Given the description of an element on the screen output the (x, y) to click on. 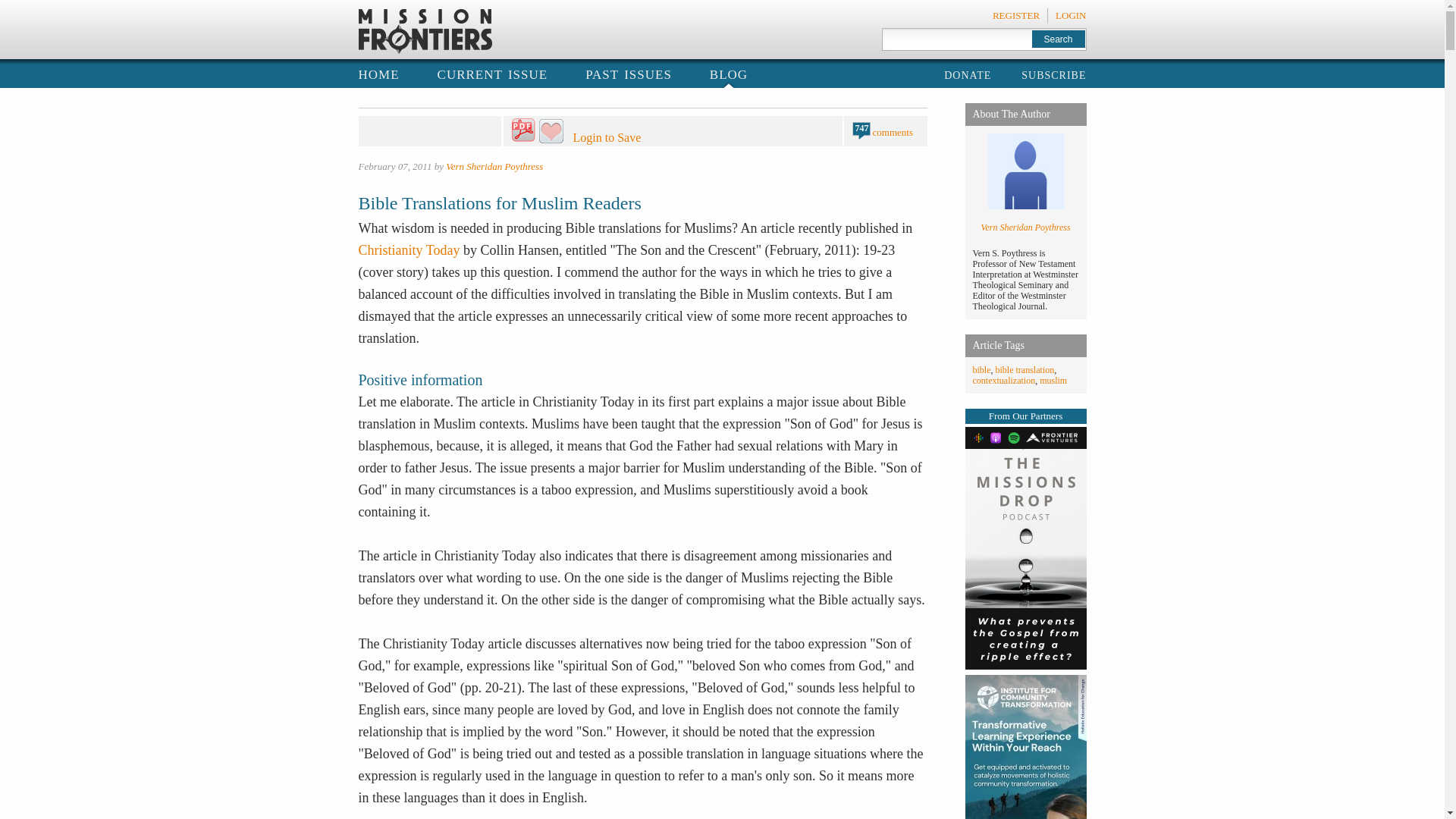
muslim (1053, 380)
comments (892, 132)
contextualization (1003, 380)
home (378, 72)
Christianity Today (409, 249)
bible translation (1024, 369)
bible (981, 369)
donate (967, 74)
Login to Save (643, 132)
Search (1057, 38)
LOGIN (1070, 15)
current issue (493, 72)
past issues (628, 72)
REGISTER (1015, 15)
Search (1057, 38)
